Given the description of an element on the screen output the (x, y) to click on. 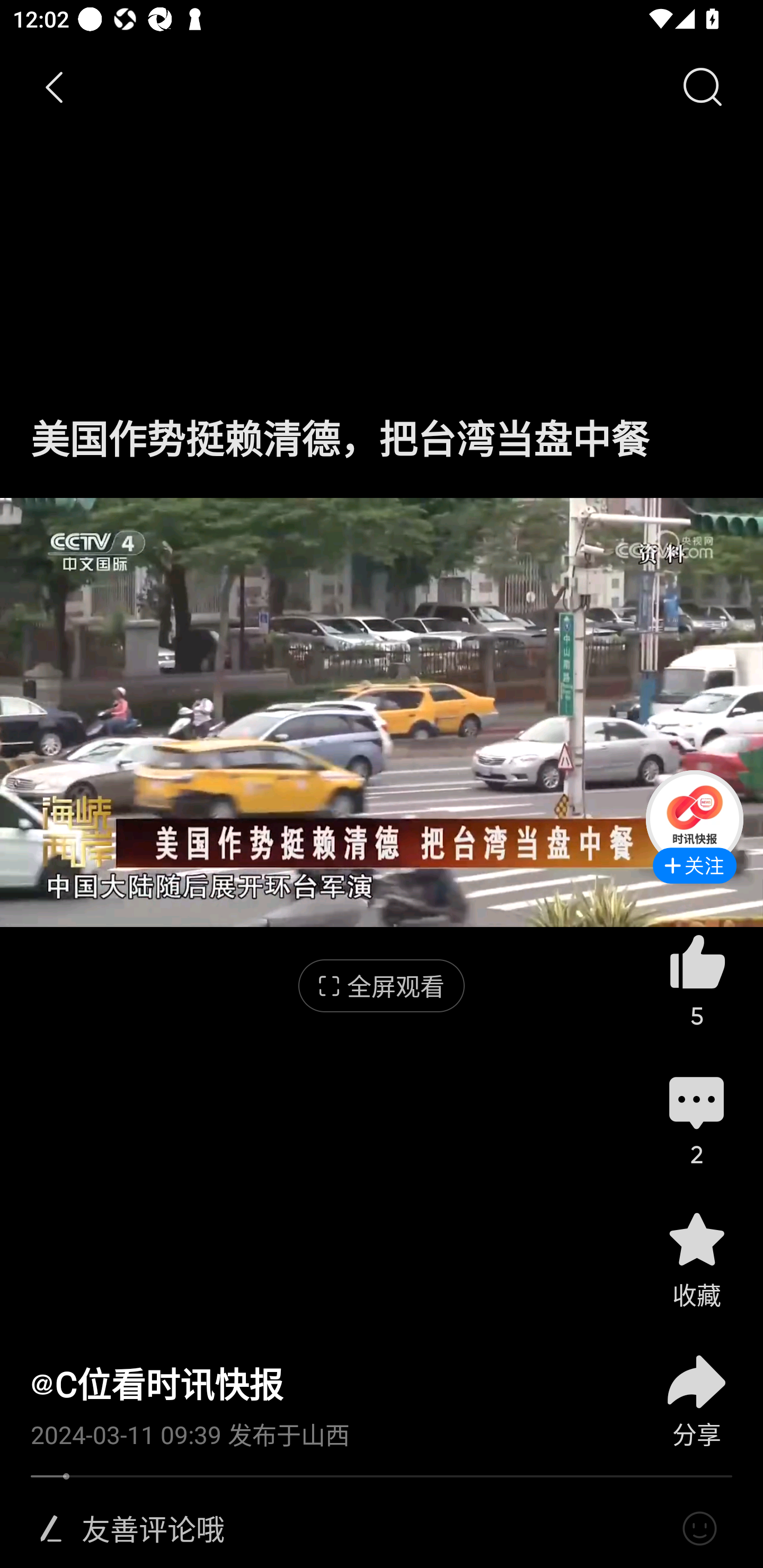
 返回 (54, 87)
 搜索 (701, 87)
赞 5 (696, 979)
全屏观看 (381, 985)
评论  2 (696, 1118)
收藏 (696, 1258)
分享  分享 (696, 1389)
C位看时讯快报 (156, 1383)
2024-03-11 09:39 发布于山西 (321, 1428)
友善评论哦 发表评论 (373, 1529)
 (50, 1528)
 (699, 1528)
